Given the description of an element on the screen output the (x, y) to click on. 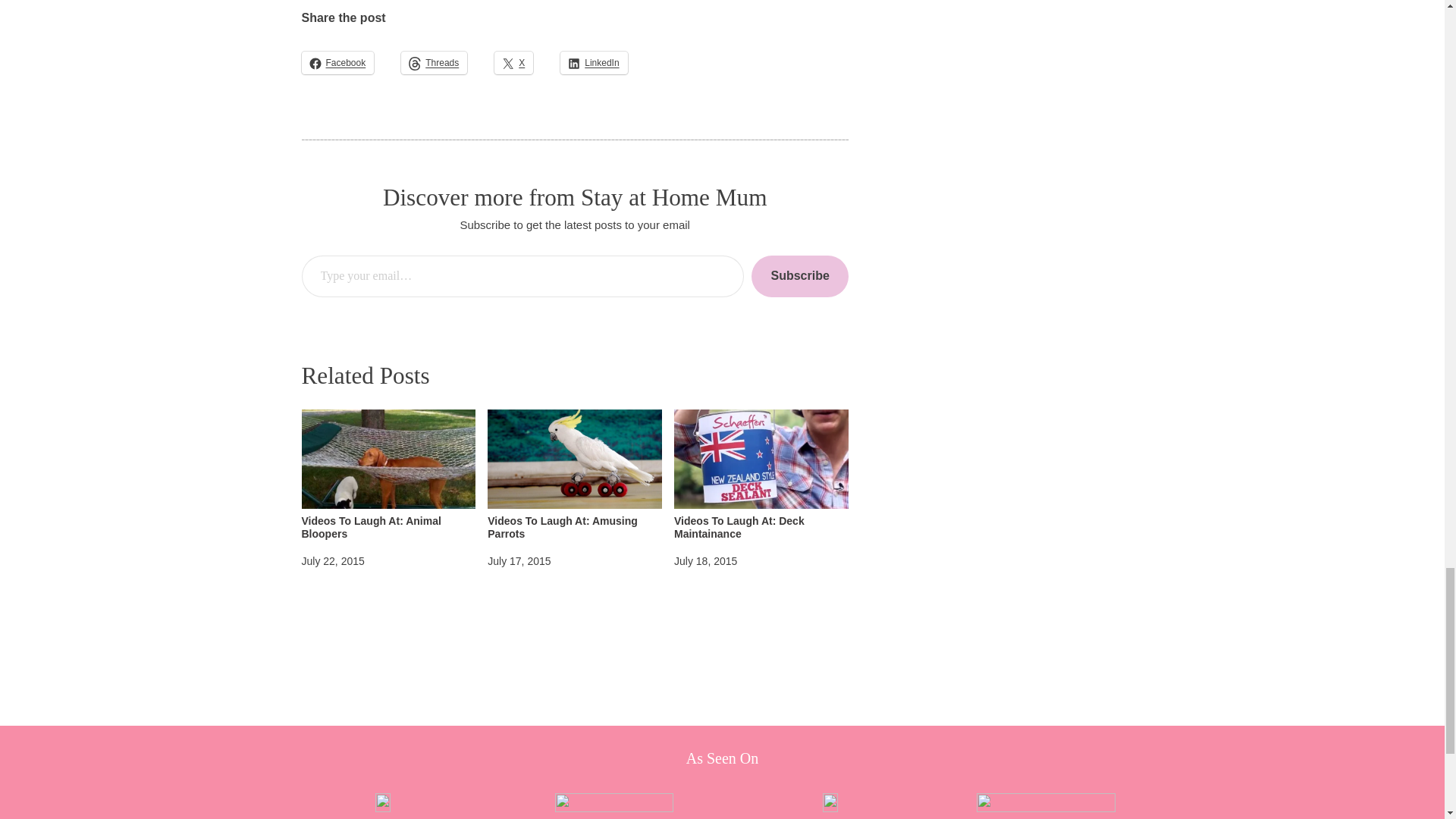
Please fill in this field. (522, 276)
